Given the description of an element on the screen output the (x, y) to click on. 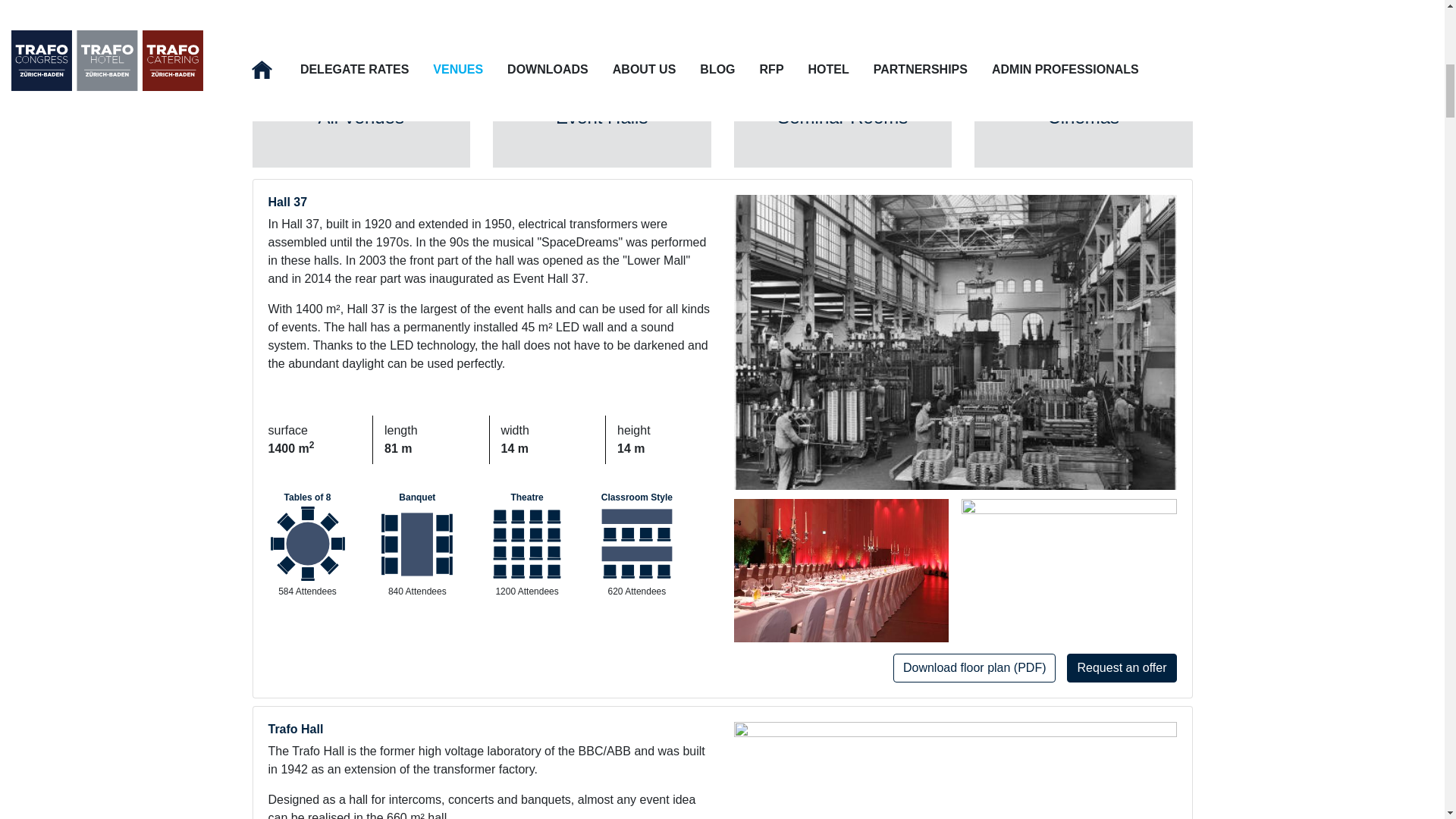
Banquet (416, 497)
Classroom Style (636, 497)
Theatre (526, 497)
Tables of 8 (307, 497)
Request an offer (1121, 667)
